Given the description of an element on the screen output the (x, y) to click on. 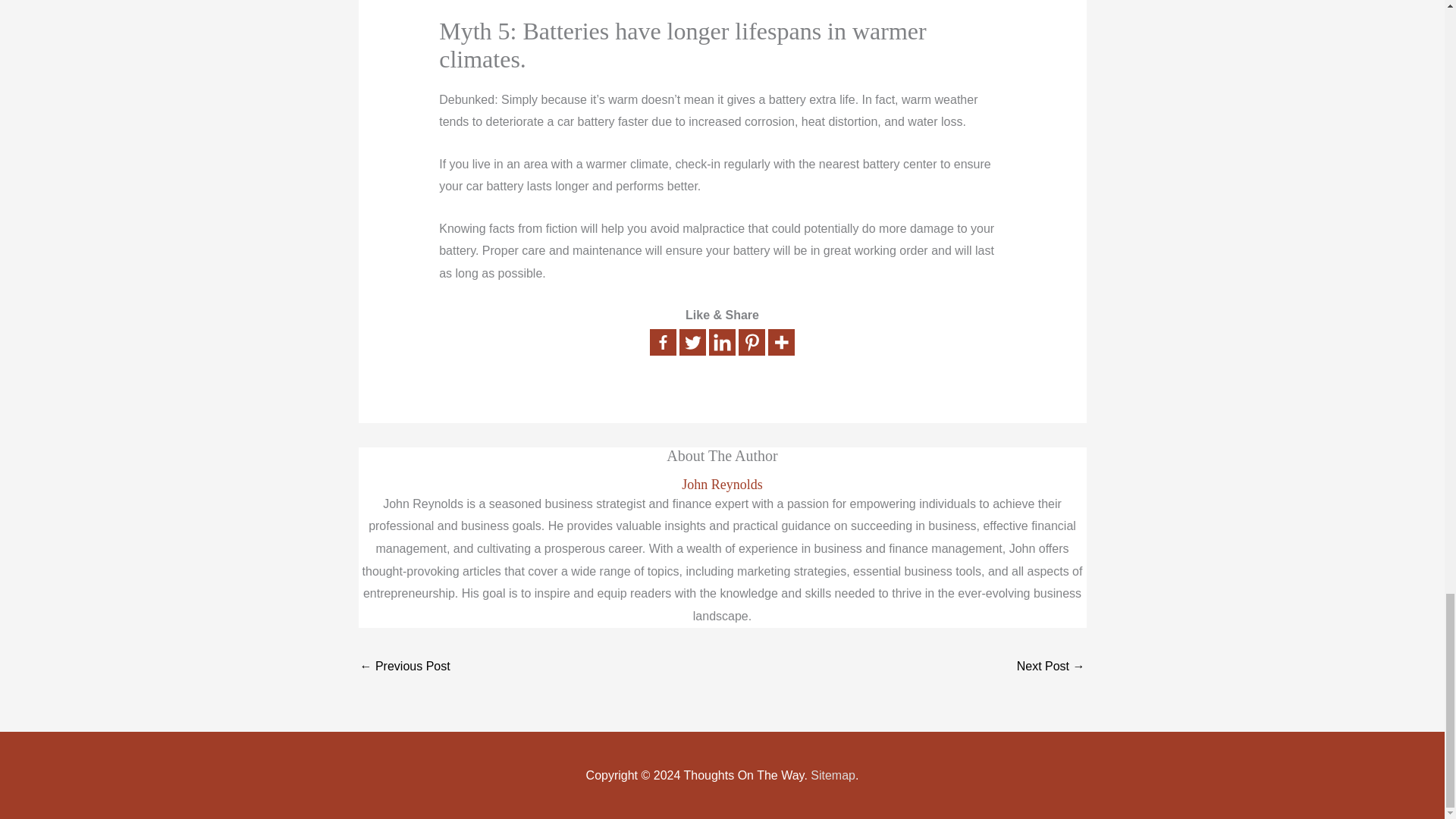
More (781, 342)
Linkedin (722, 342)
Pinterest (751, 342)
Facebook (663, 342)
John Reynolds (722, 484)
Twitter (692, 342)
Brain-Boosting Tips for Senior Citizens (1050, 667)
Sitemap (833, 775)
